Given the description of an element on the screen output the (x, y) to click on. 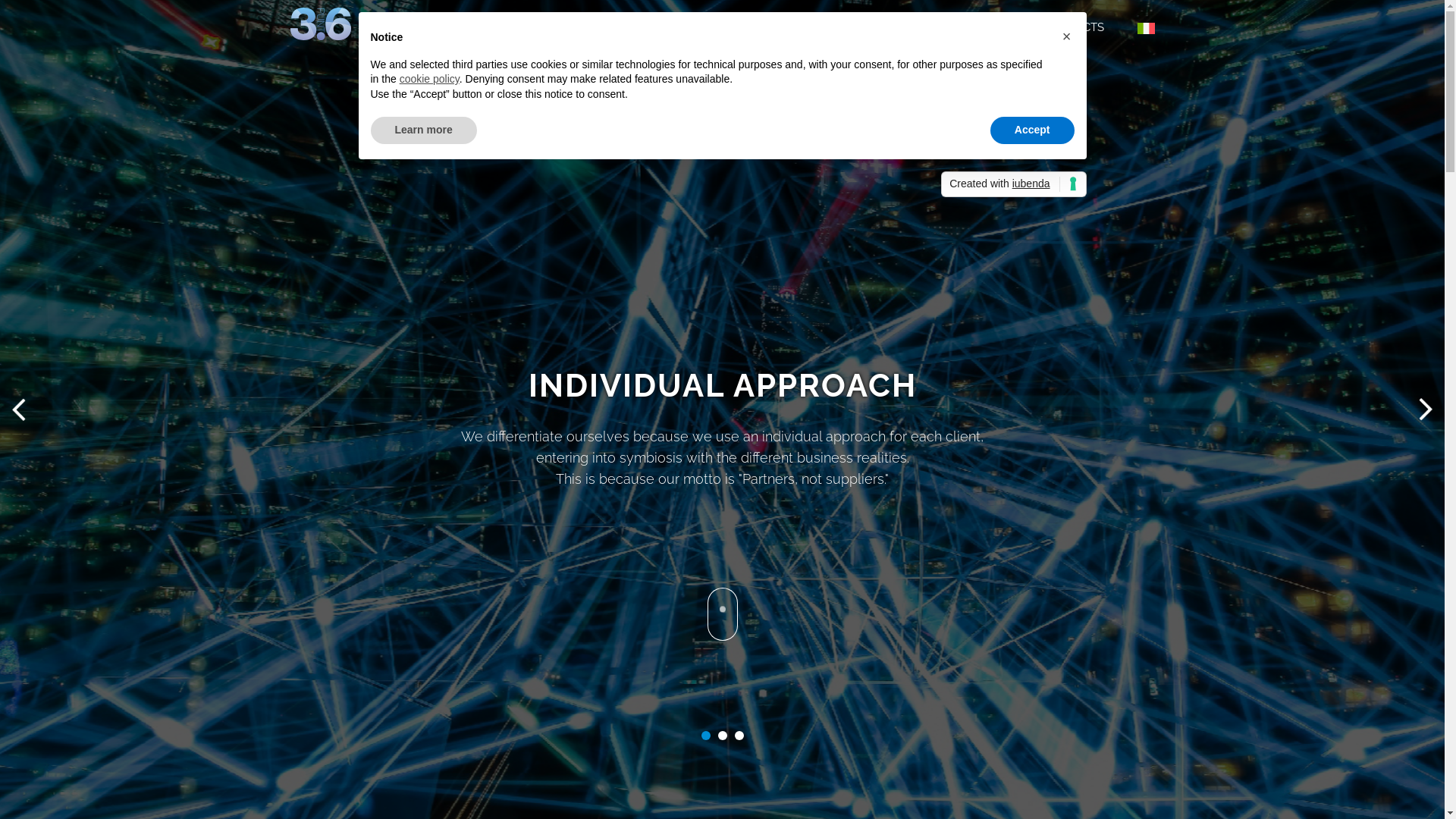
CONTACTS Element type: text (1074, 26)
cookie policy Element type: text (429, 78)
CERTIFICATES Element type: text (972, 26)
SKILLS Element type: text (686, 26)
Created with iubenda Element type: text (1013, 184)
TECHNOLOGIES Element type: text (775, 26)
Learn more Element type: text (423, 130)
HISTORY Element type: text (876, 26)
Accept Element type: text (1032, 130)
